Given the description of an element on the screen output the (x, y) to click on. 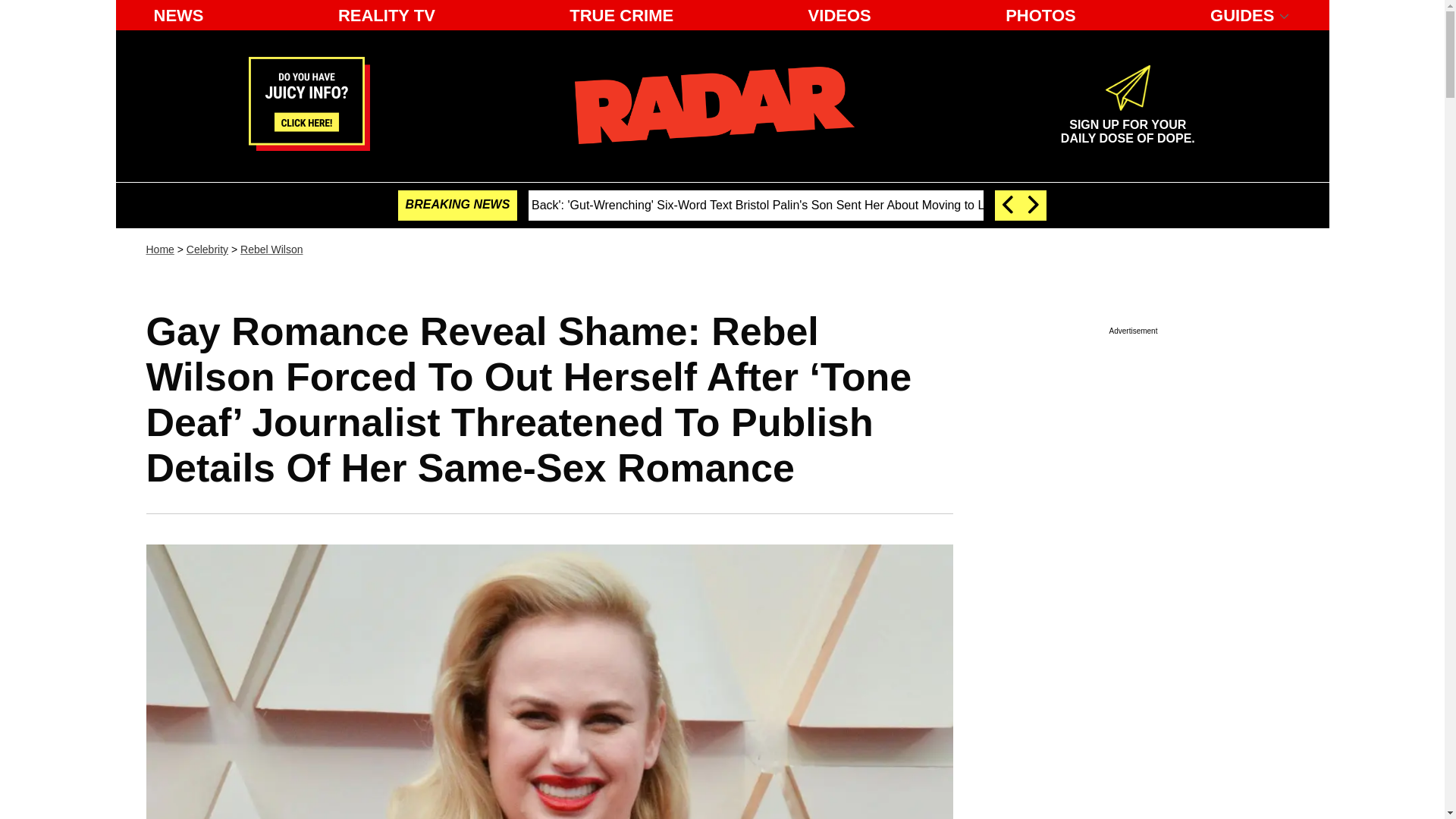
Home (159, 249)
Email us your tip (308, 146)
PHOTOS (1040, 15)
Sign up for your daily dose of dope. (1127, 124)
REALITY TV (1127, 124)
VIDEOS (386, 15)
Celebrity (839, 15)
Rebel Wilson (207, 249)
